Given the description of an element on the screen output the (x, y) to click on. 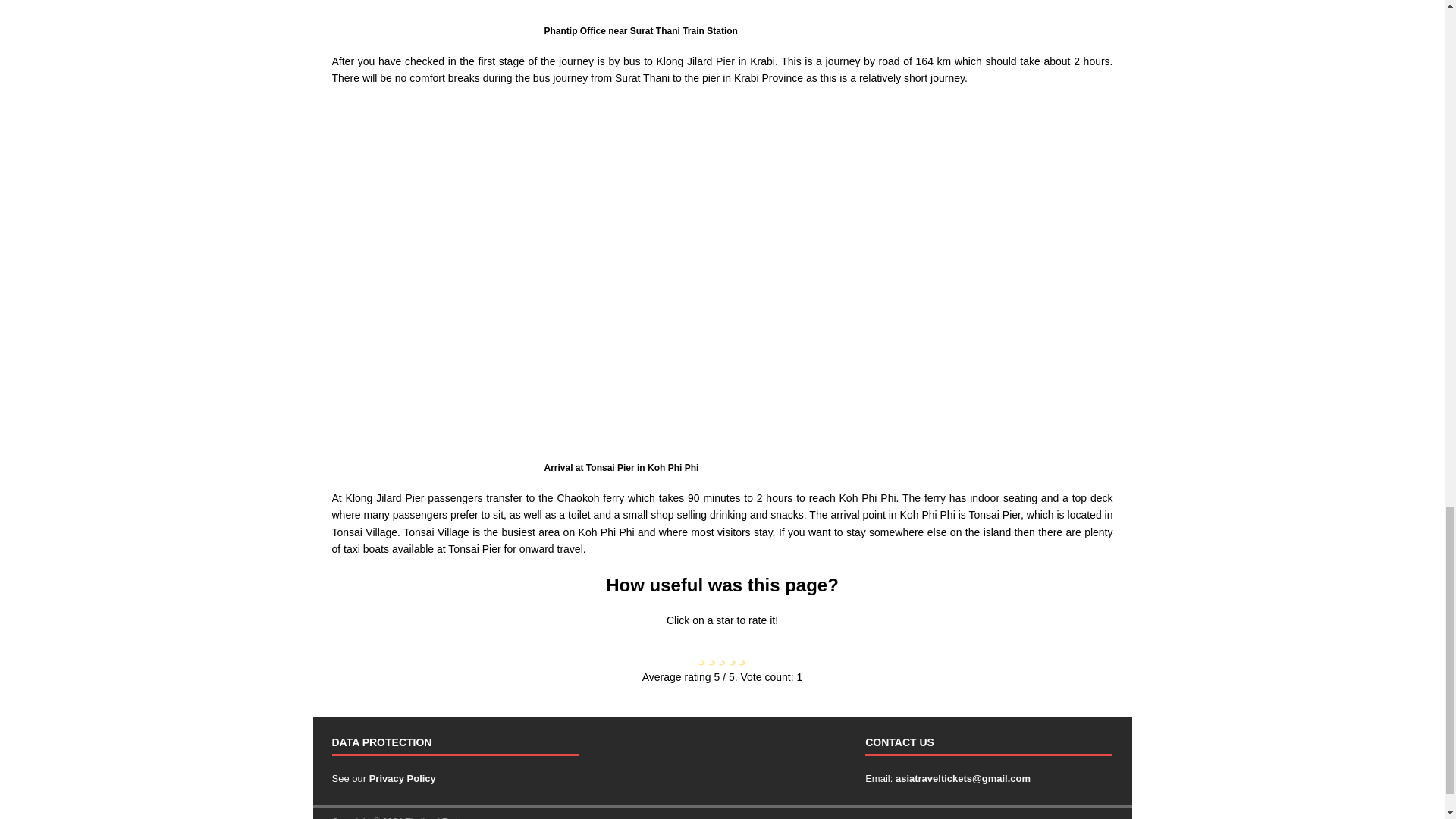
Privacy Policy (402, 778)
E-mail Thailand Trains (962, 778)
